Given the description of an element on the screen output the (x, y) to click on. 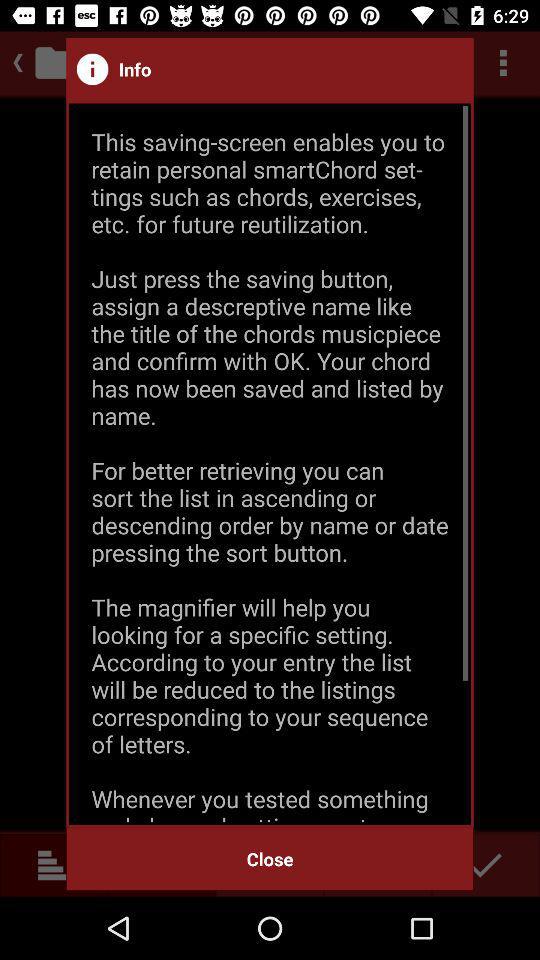
choose the item above close (269, 464)
